Given the description of an element on the screen output the (x, y) to click on. 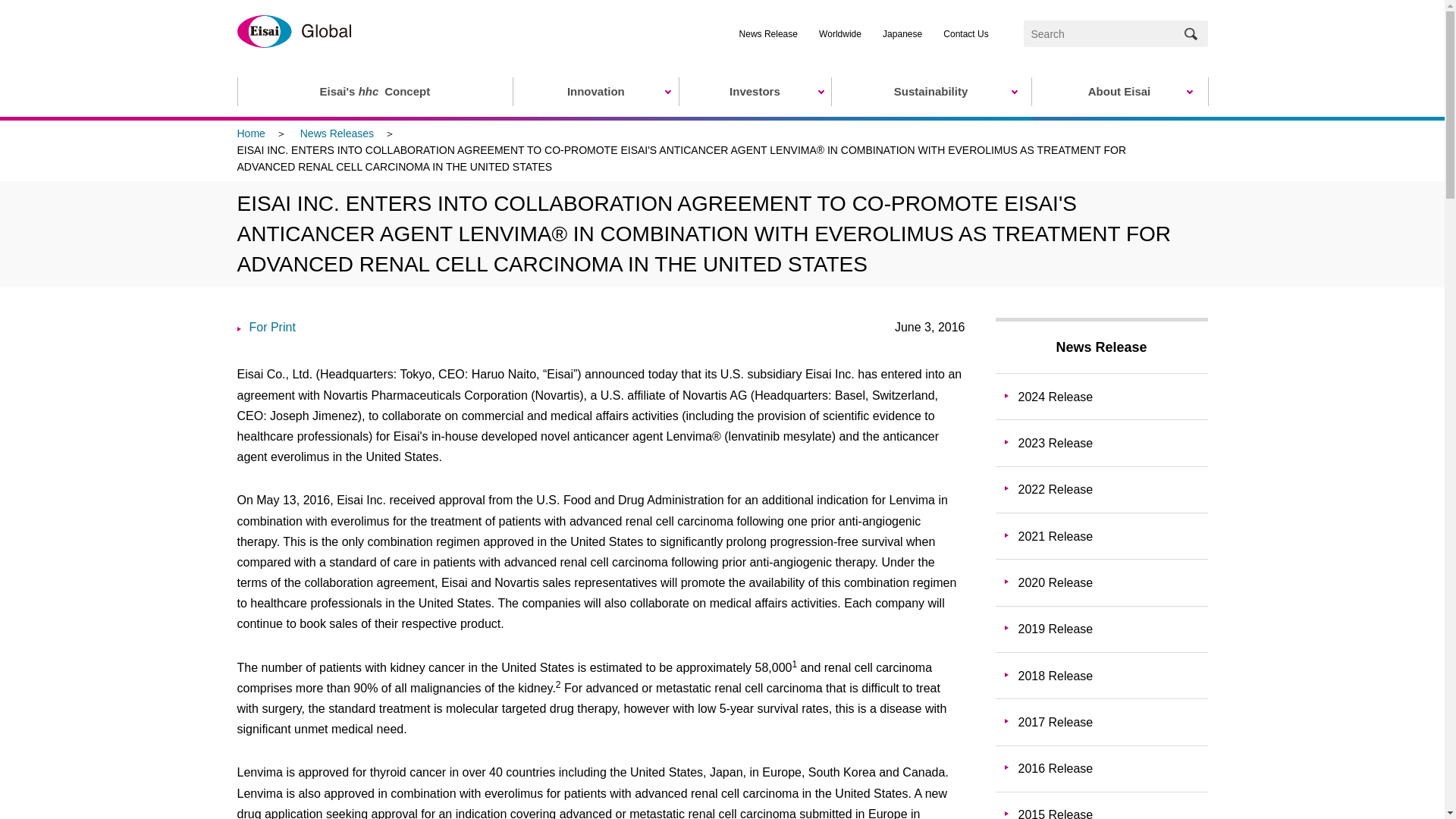
Innovation (595, 91)
Eisai's hhc Concept (373, 91)
human health care (368, 91)
